Given the description of an element on the screen output the (x, y) to click on. 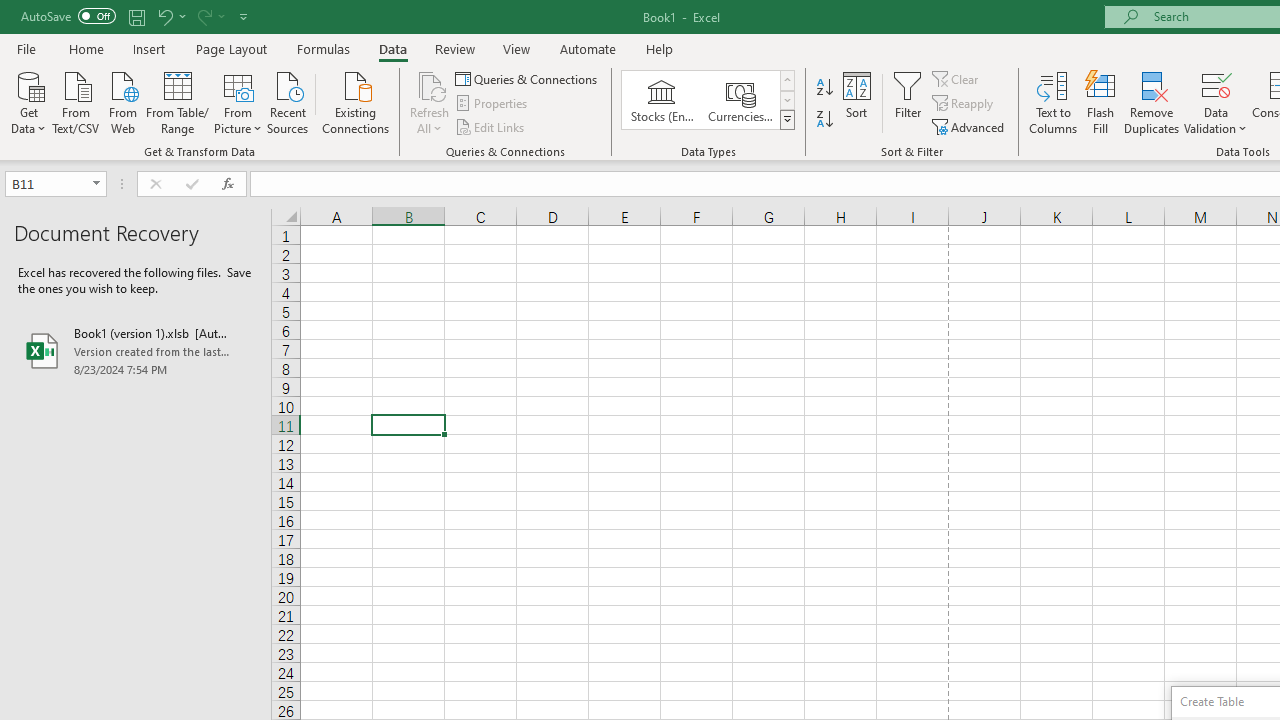
File Tab (26, 48)
Undo (170, 15)
From Web (122, 101)
Sort Z to A (824, 119)
Stocks (English) (662, 100)
Data (392, 48)
More Options (1215, 121)
Text to Columns... (1053, 102)
Page Layout (230, 48)
Remove Duplicates (1151, 102)
Sort... (856, 102)
